Given the description of an element on the screen output the (x, y) to click on. 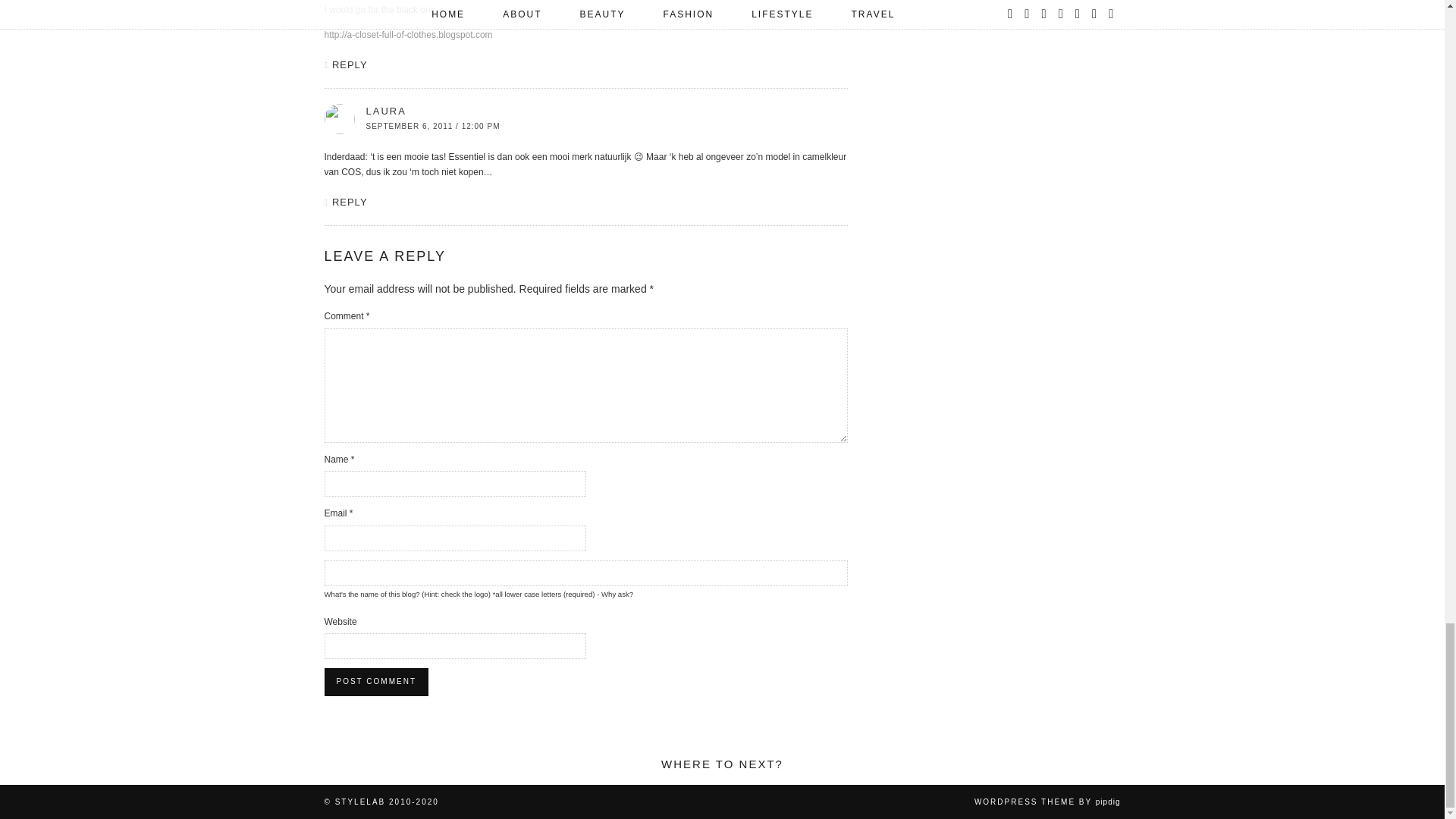
Post Comment (376, 681)
